Given the description of an element on the screen output the (x, y) to click on. 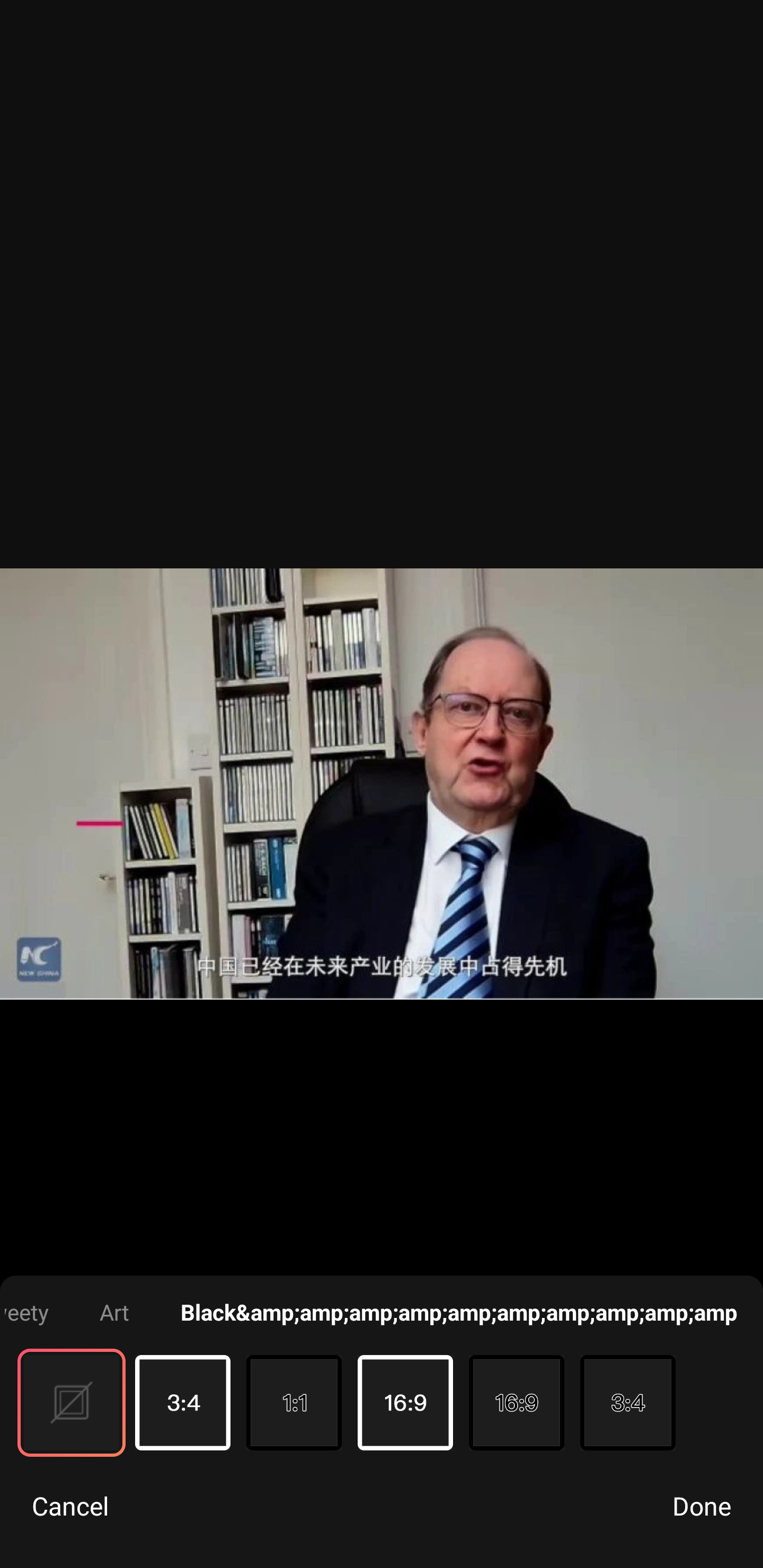
Sweety (26, 1312)
Art (114, 1312)
Black&amp;amp;amp;amp;amp;amp;amp;amp;amp;amp (458, 1312)
Cancel (70, 1505)
Done (701, 1505)
